Given the description of an element on the screen output the (x, y) to click on. 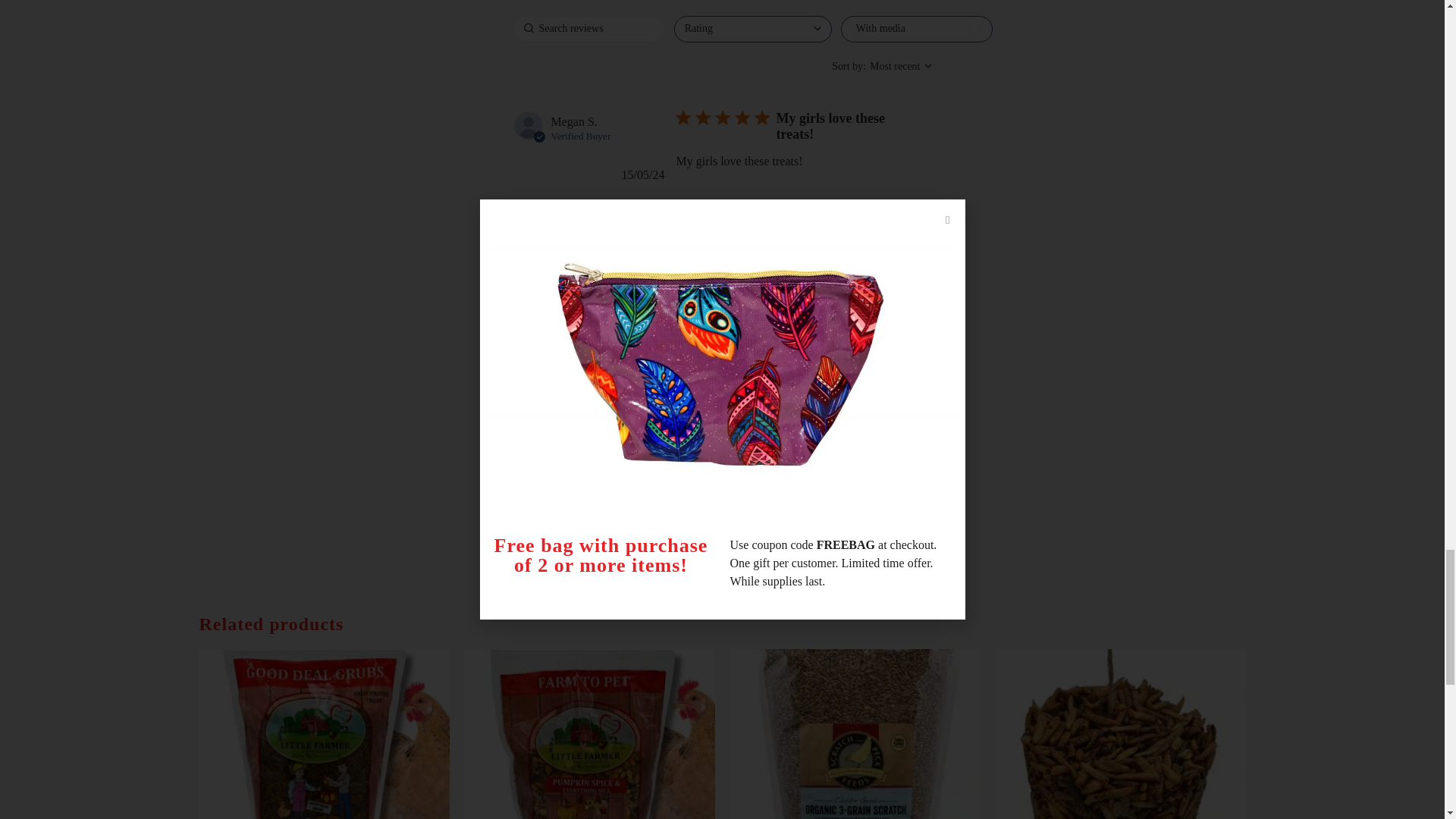
Abstract user icon (527, 125)
